Given the description of an element on the screen output the (x, y) to click on. 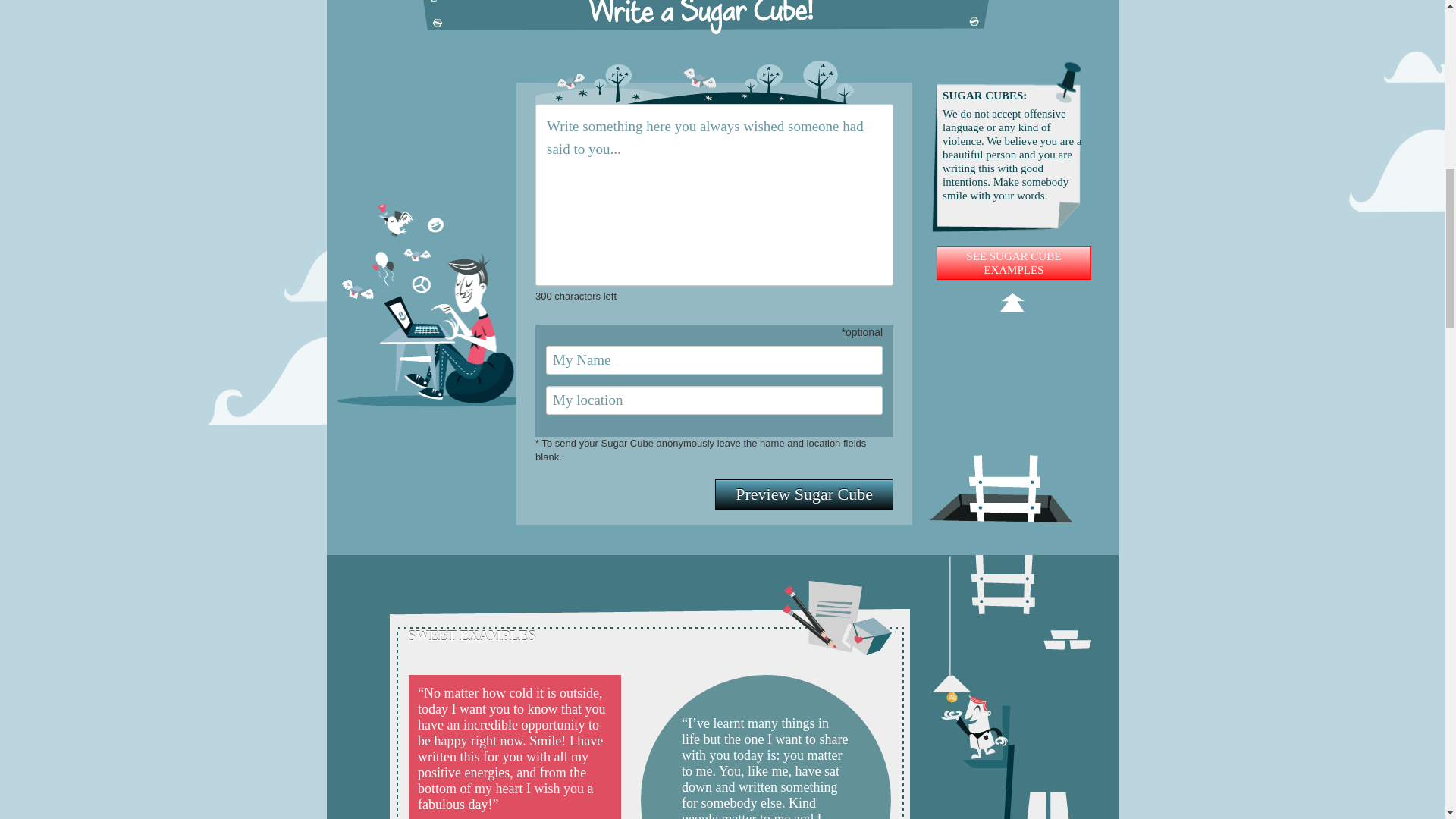
Preview Sugar Cube (803, 494)
Preview Sugar Cube (803, 494)
SEE SUGAR CUBE EXAMPLES (1013, 263)
